Given the description of an element on the screen output the (x, y) to click on. 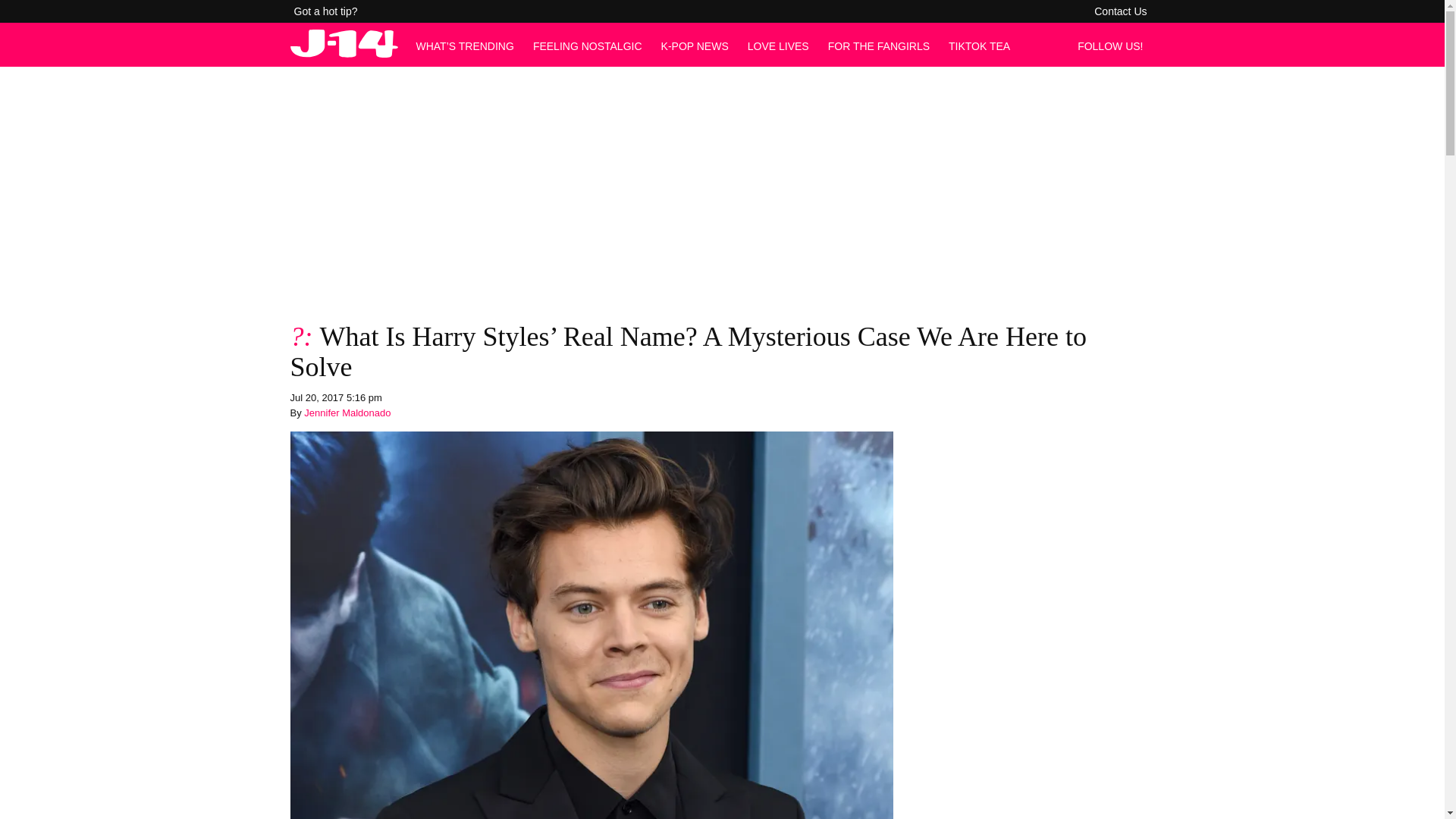
K-POP NEWS (695, 46)
Got a hot tip? (325, 11)
Jennifer Maldonado (347, 412)
LOVE LIVES (778, 46)
Posts by Jennifer Maldonado (347, 412)
FOLLOW US! (1114, 45)
FOR THE FANGIRLS (879, 46)
TIKTOK TEA (979, 46)
Contact Us (1120, 11)
FEELING NOSTALGIC (587, 46)
Home (343, 52)
